Given the description of an element on the screen output the (x, y) to click on. 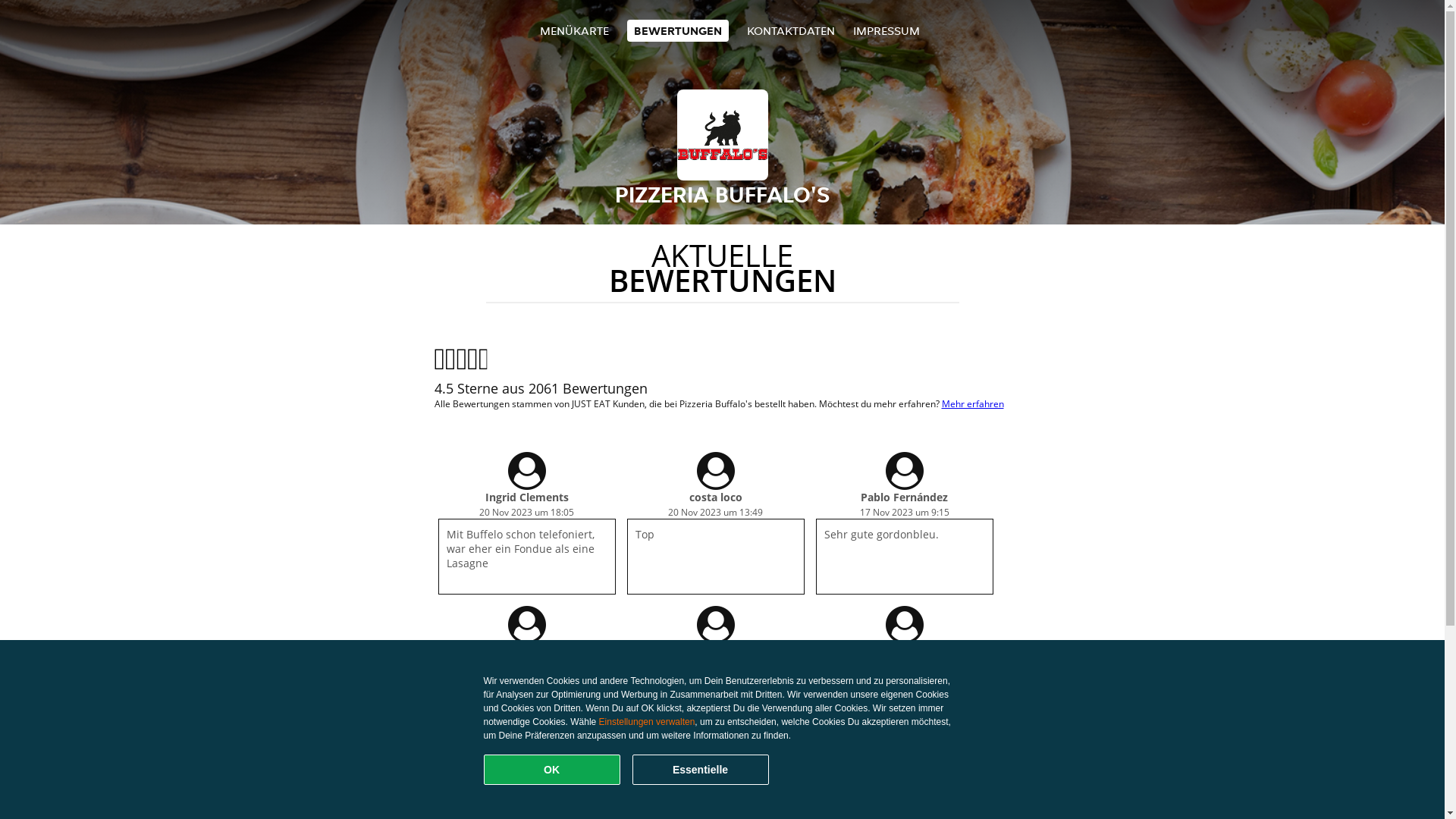
Einstellungen verwalten Element type: text (647, 721)
KONTAKTDATEN Element type: text (790, 30)
Mehr erfahren Element type: text (972, 403)
BEWERTUNGEN Element type: text (677, 30)
OK Element type: text (551, 769)
IMPRESSUM Element type: text (886, 30)
Essentielle Element type: text (700, 769)
